Given the description of an element on the screen output the (x, y) to click on. 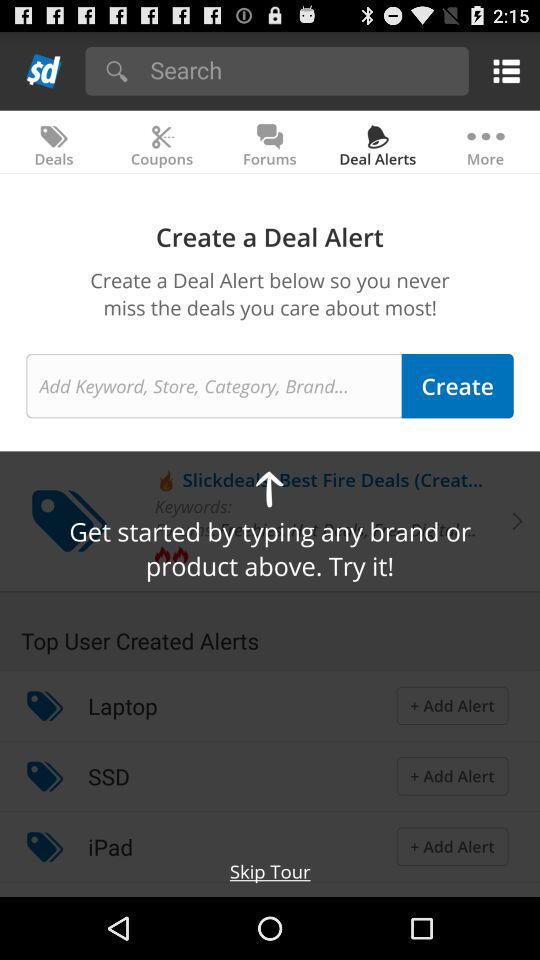
flip until skip tour (269, 871)
